Given the description of an element on the screen output the (x, y) to click on. 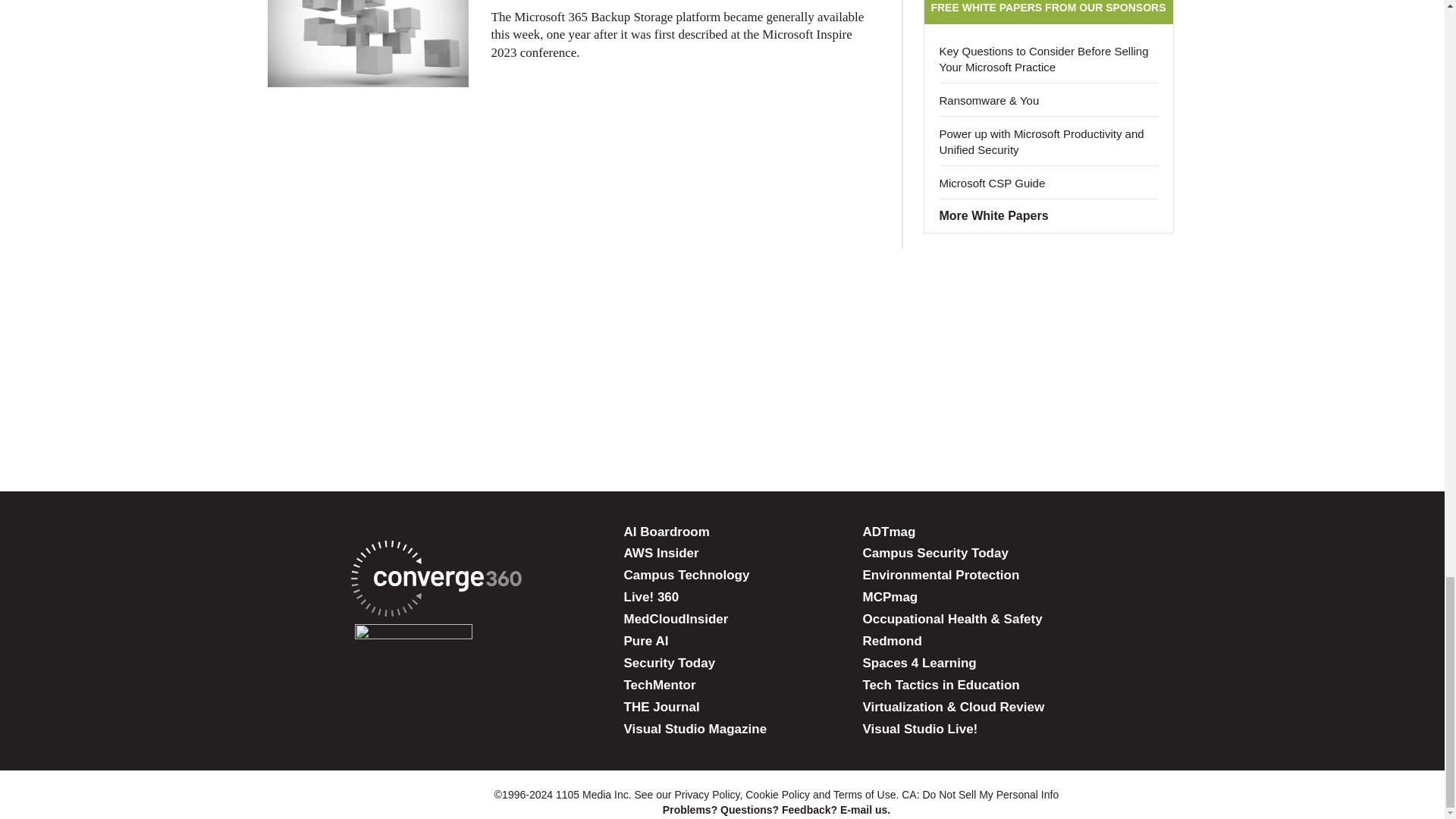
3rd party ad content (721, 300)
3rd party ad content (721, 399)
